Given the description of an element on the screen output the (x, y) to click on. 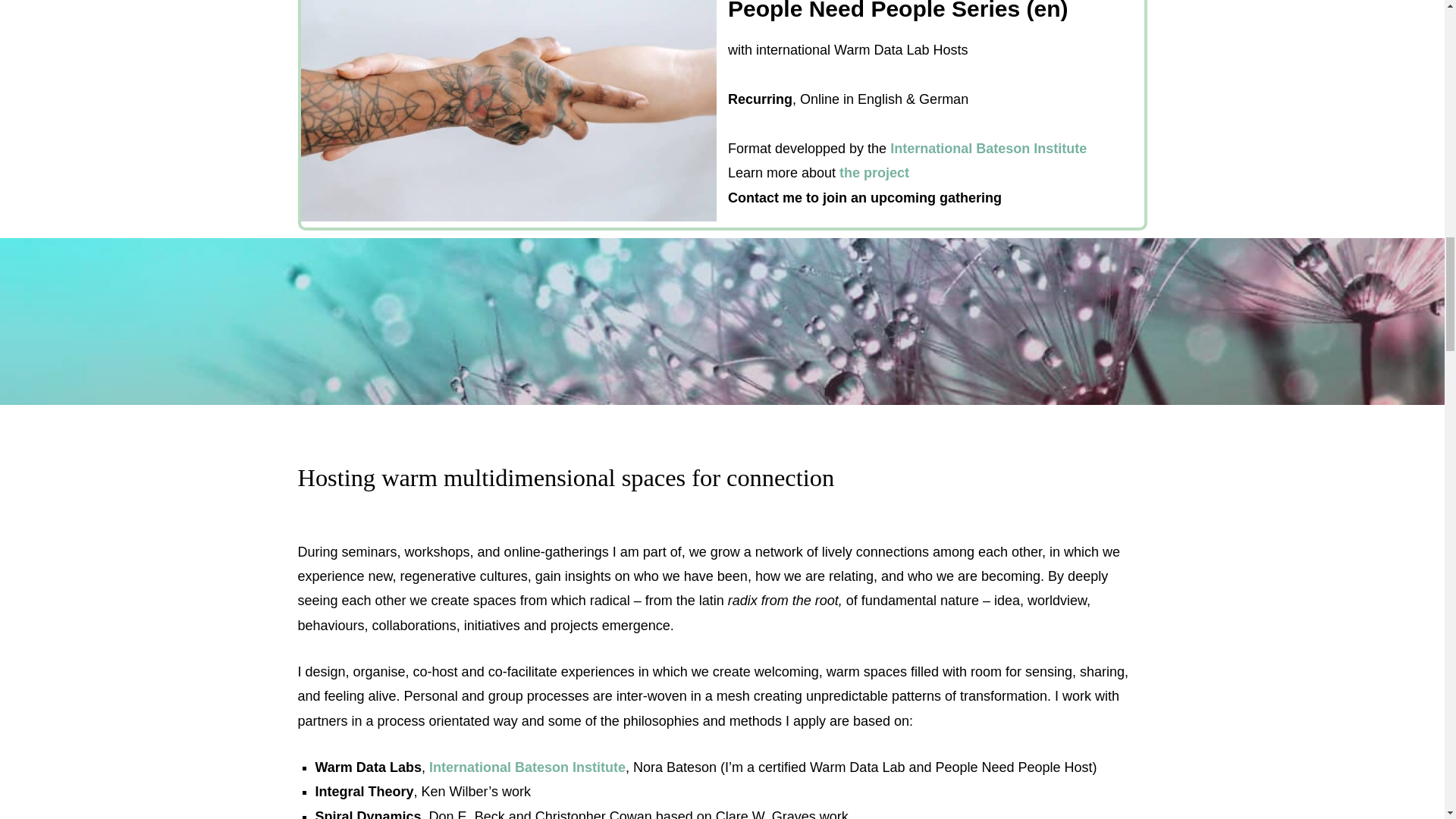
International Bateson Institute (987, 148)
the project (874, 172)
International Bateson Institute (527, 767)
